Given the description of an element on the screen output the (x, y) to click on. 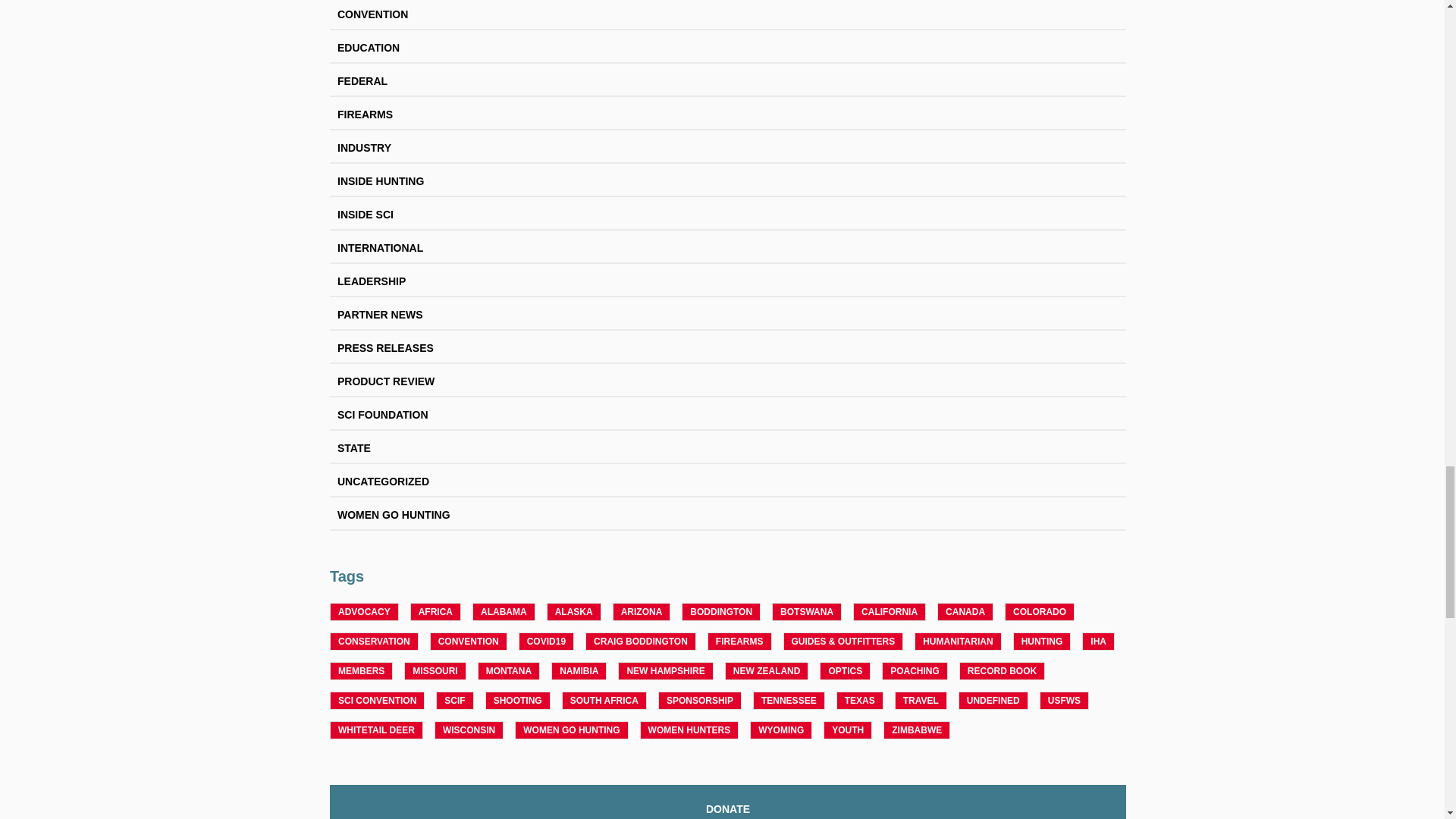
INDUSTRY (727, 148)
FEDERAL (727, 81)
INSIDE SCI (727, 214)
EDUCATION (727, 48)
FIREARMS (727, 114)
INSIDE HUNTING (727, 182)
CONVENTION (727, 15)
